Given the description of an element on the screen output the (x, y) to click on. 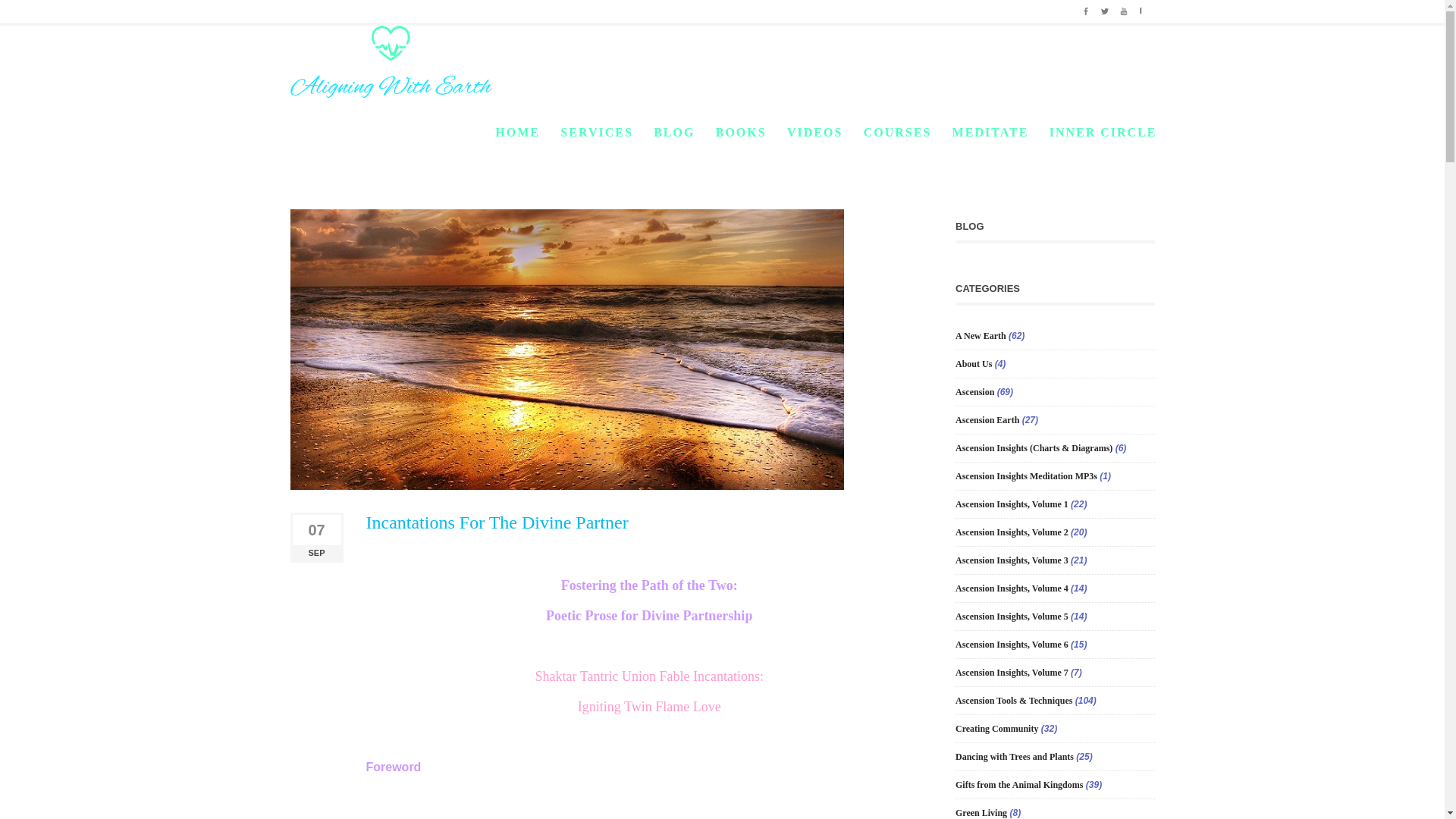
COURSES (897, 133)
Youtube (1123, 9)
MEDITATE (990, 133)
Facebook (1086, 9)
A New Earth (980, 335)
Home (1032, 124)
SKIP TO PRIMARY CONTENT (550, 132)
Twitter (1104, 9)
Incantations For The Divine Partner (496, 522)
Aligning With Earth (390, 61)
INNER CIRCLE (1103, 133)
Skip to secondary content (557, 132)
Skip to primary content (550, 132)
Permalink to Incantations For The Divine Partner (496, 522)
